Given the description of an element on the screen output the (x, y) to click on. 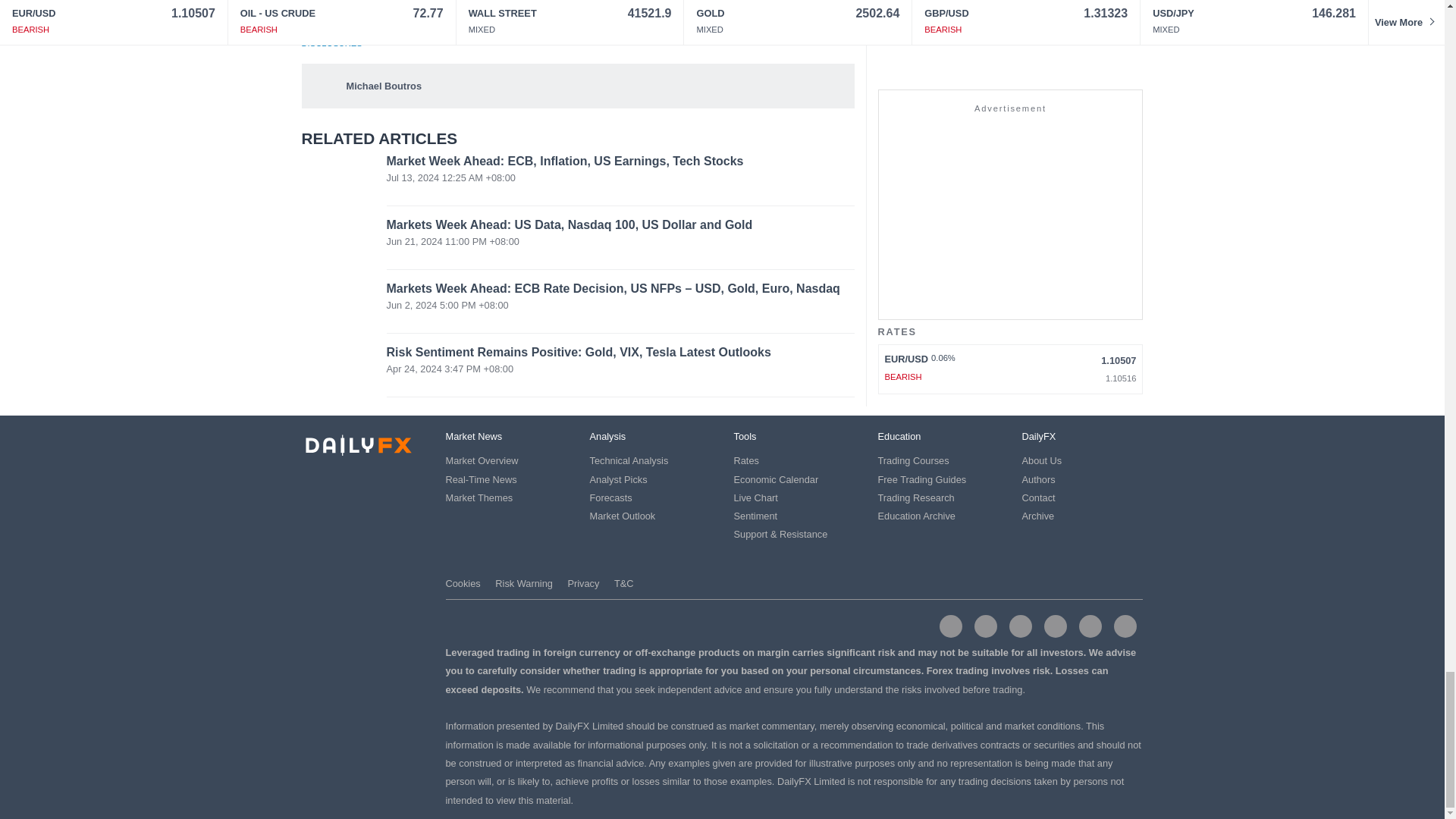
Forecasts (610, 497)
Real-Time News (480, 479)
Market News (473, 436)
Economic Calendar (775, 479)
Rates (745, 460)
Live Chart (755, 497)
Market Overview (481, 460)
Tools (745, 436)
Market Themes (479, 497)
Analysis (607, 436)
